Given the description of an element on the screen output the (x, y) to click on. 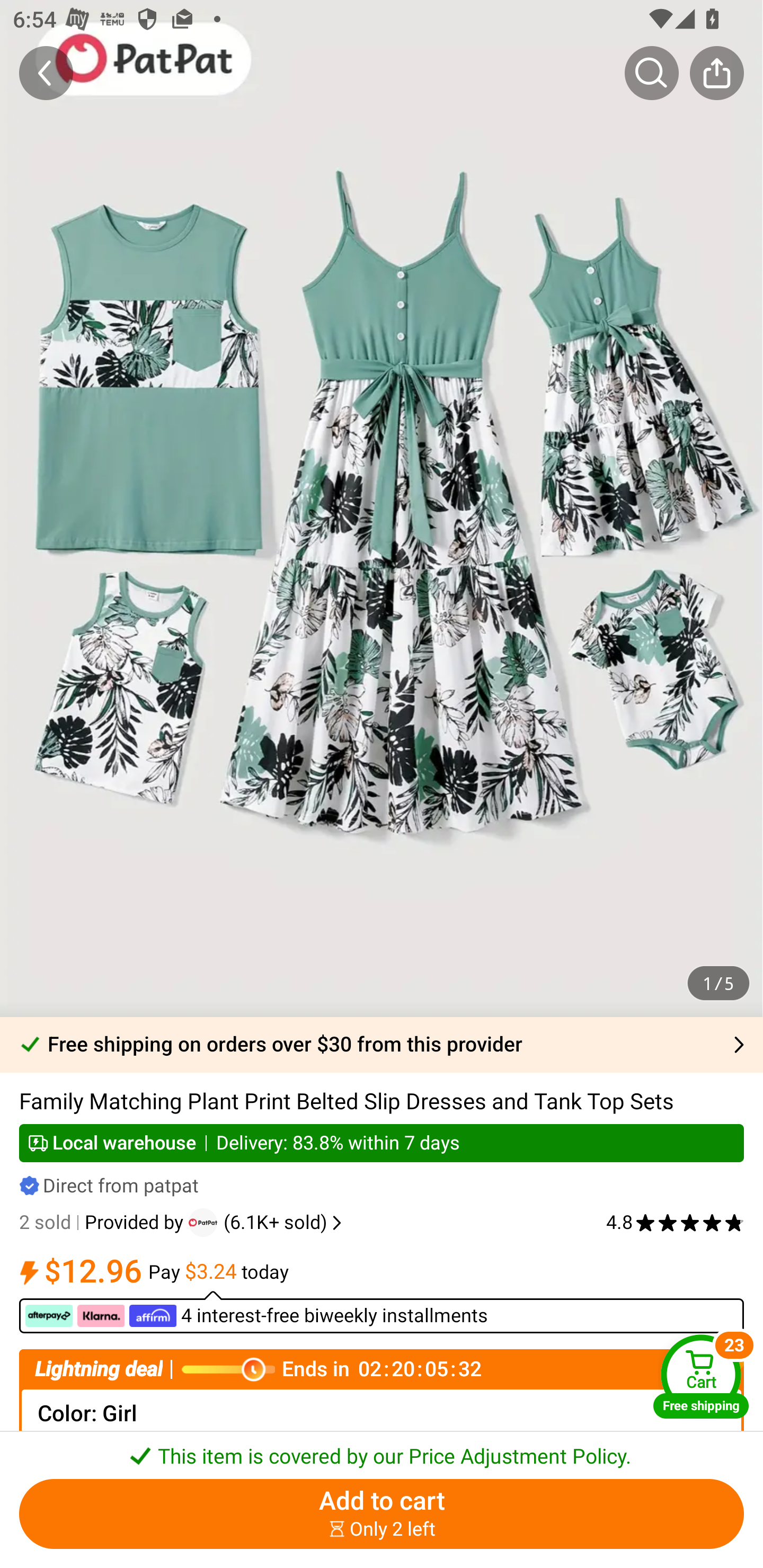
Back (46, 72)
Share (716, 72)
Local warehouse Delivery: 83.8% within 7 days (381, 1142)
2 sold Provided by  (103, 1223)
4.8 (674, 1223)
￼ ￼ ￼ 4 interest-free biweekly installments (381, 1311)
Cart Free shipping Cart (701, 1375)
Lightning deal Ends in￼￼ (381, 1368)
Add to cart ￼￼Only 2 left (381, 1513)
